Given the description of an element on the screen output the (x, y) to click on. 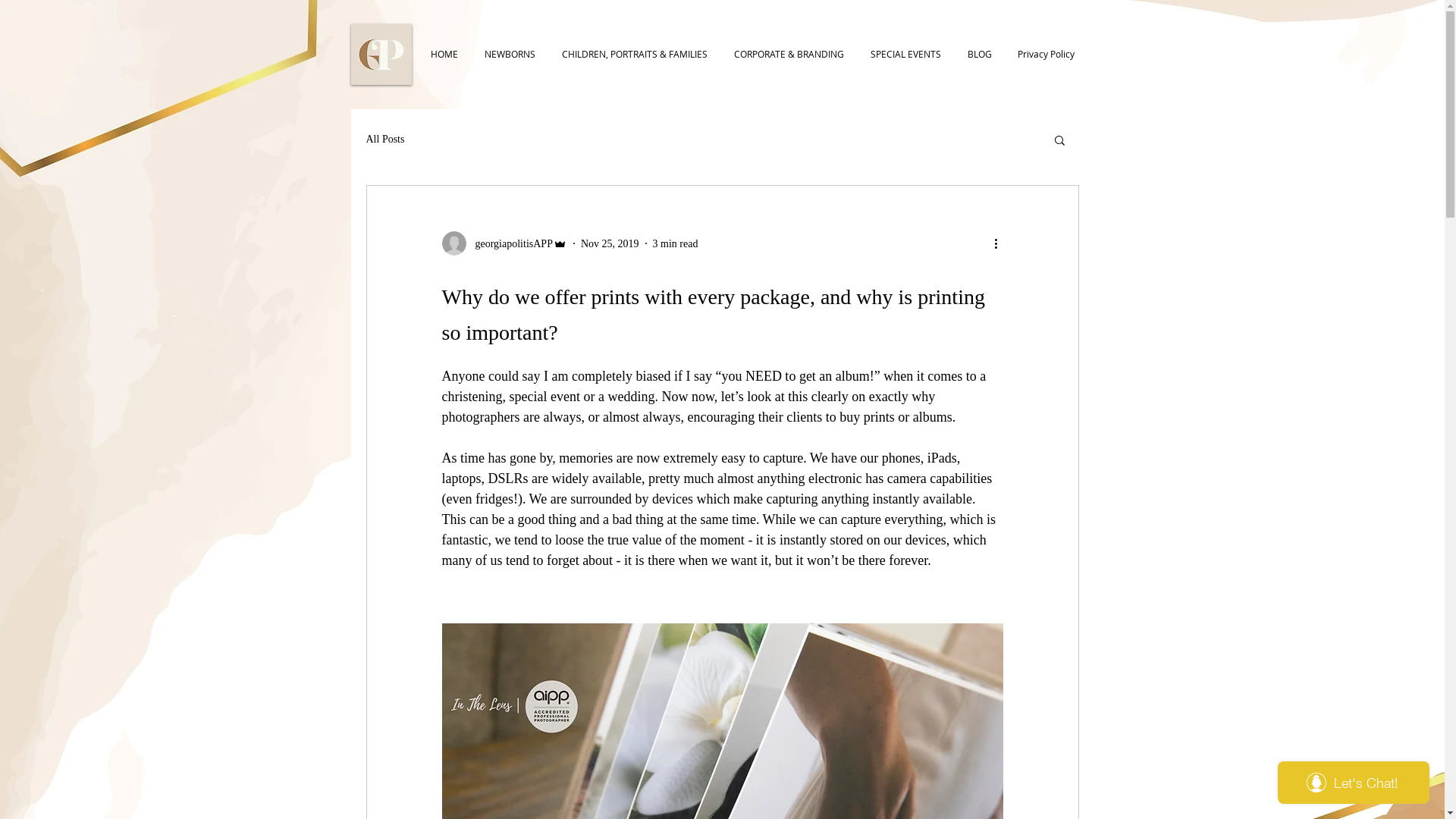
Privacy Policy Element type: text (1044, 53)
CHILDREN, PORTRAITS & FAMILIES Element type: text (632, 53)
georgiapolitisAPP Element type: text (503, 243)
CORPORATE & BRANDING Element type: text (786, 53)
BLOG Element type: text (977, 53)
SPECIAL EVENTS Element type: text (903, 53)
HOME Element type: text (441, 53)
All Posts Element type: text (384, 139)
NEWBORNS Element type: text (508, 53)
